Given the description of an element on the screen output the (x, y) to click on. 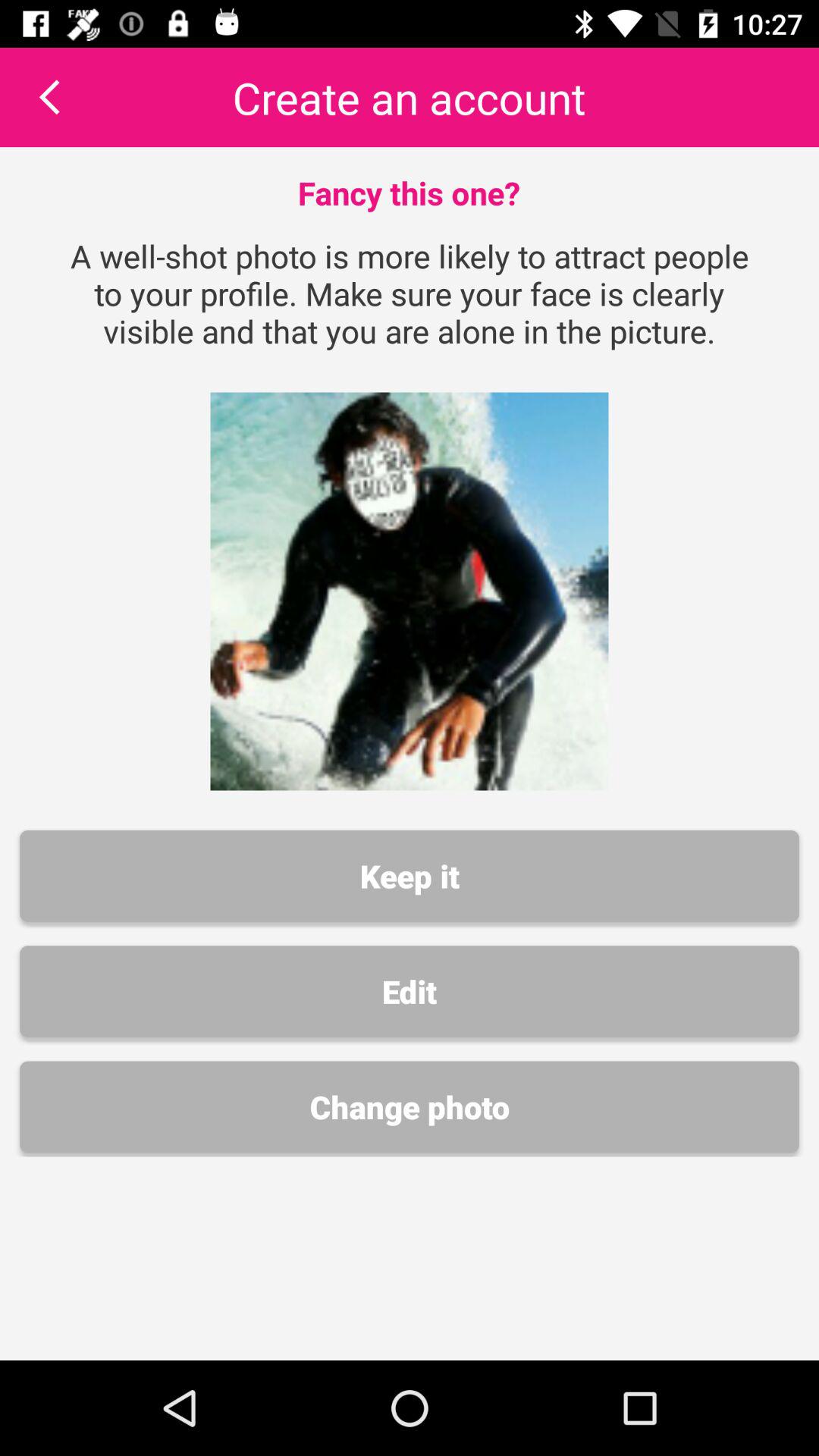
tap button below the edit button (409, 1106)
